Given the description of an element on the screen output the (x, y) to click on. 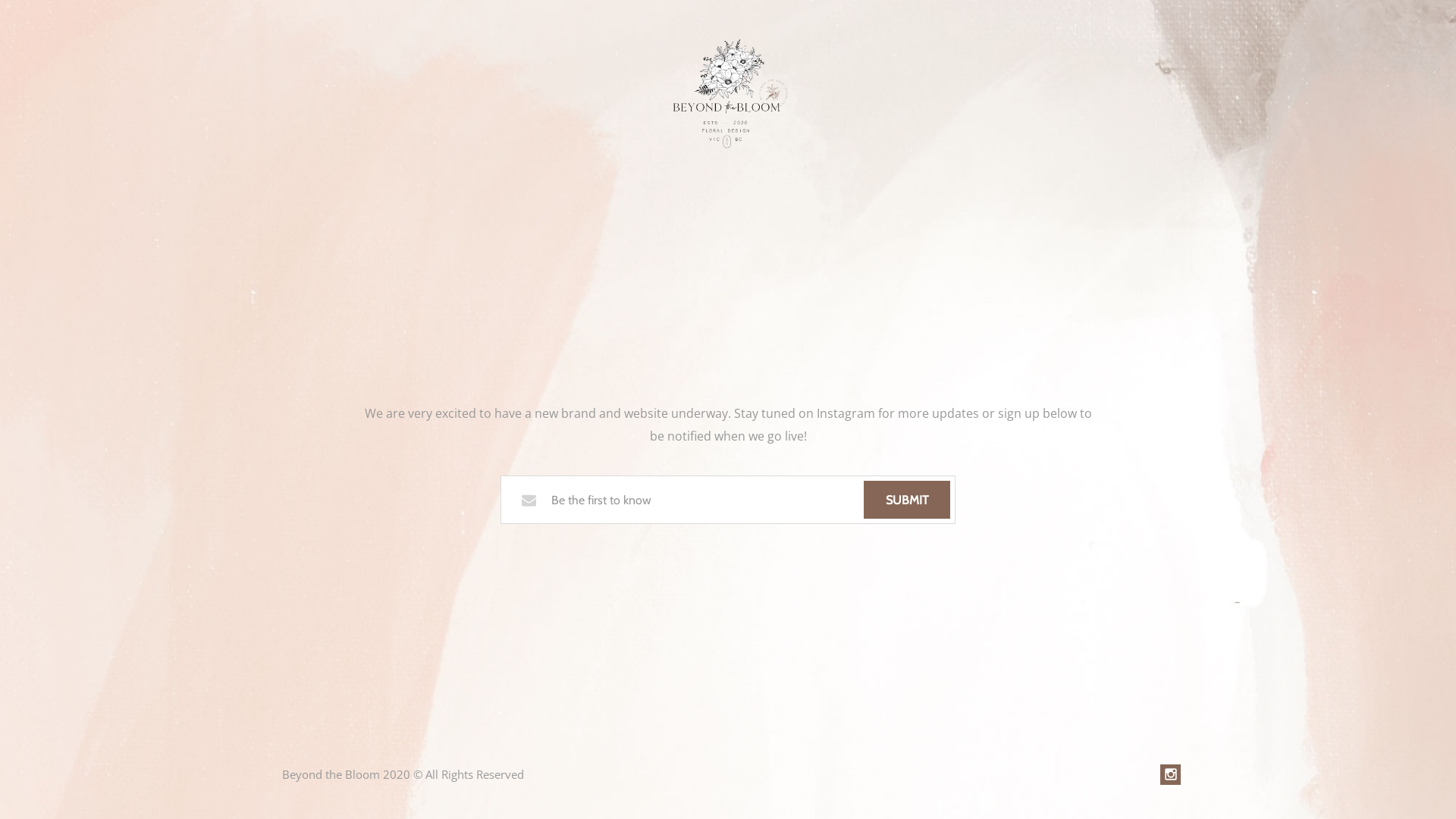
SUBMIT Element type: text (906, 499)
